Given the description of an element on the screen output the (x, y) to click on. 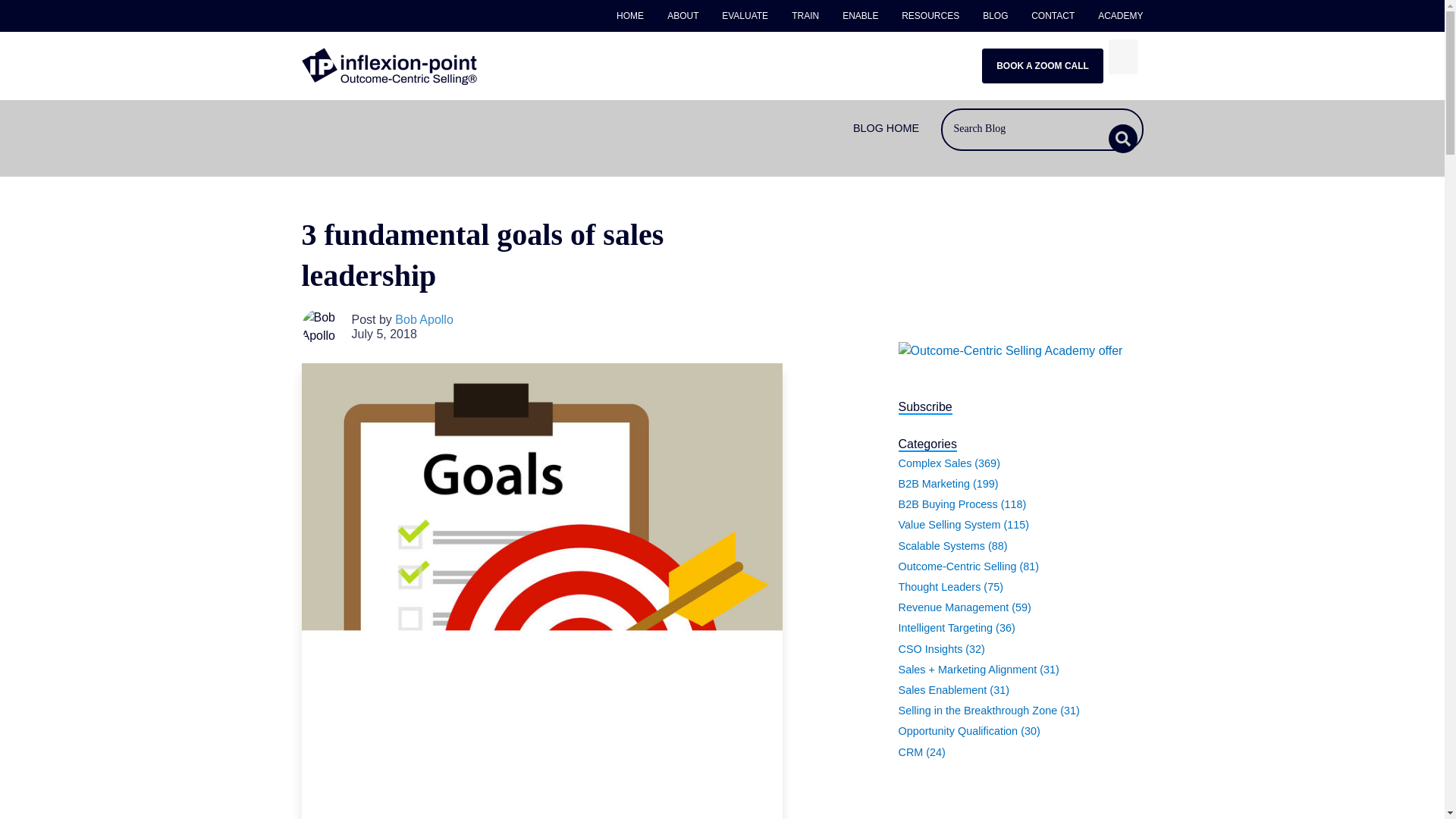
CONTACT (1053, 15)
BLOG HOME (886, 128)
ACADEMY (1114, 15)
HOME (634, 15)
BOOK A ZOOM CALL (1042, 65)
ABOUT (683, 15)
ENABLE (860, 15)
TRAIN (804, 15)
BLOG (994, 15)
EVALUATE (744, 15)
Bob Apollo (423, 318)
RESOURCES (930, 15)
